Given the description of an element on the screen output the (x, y) to click on. 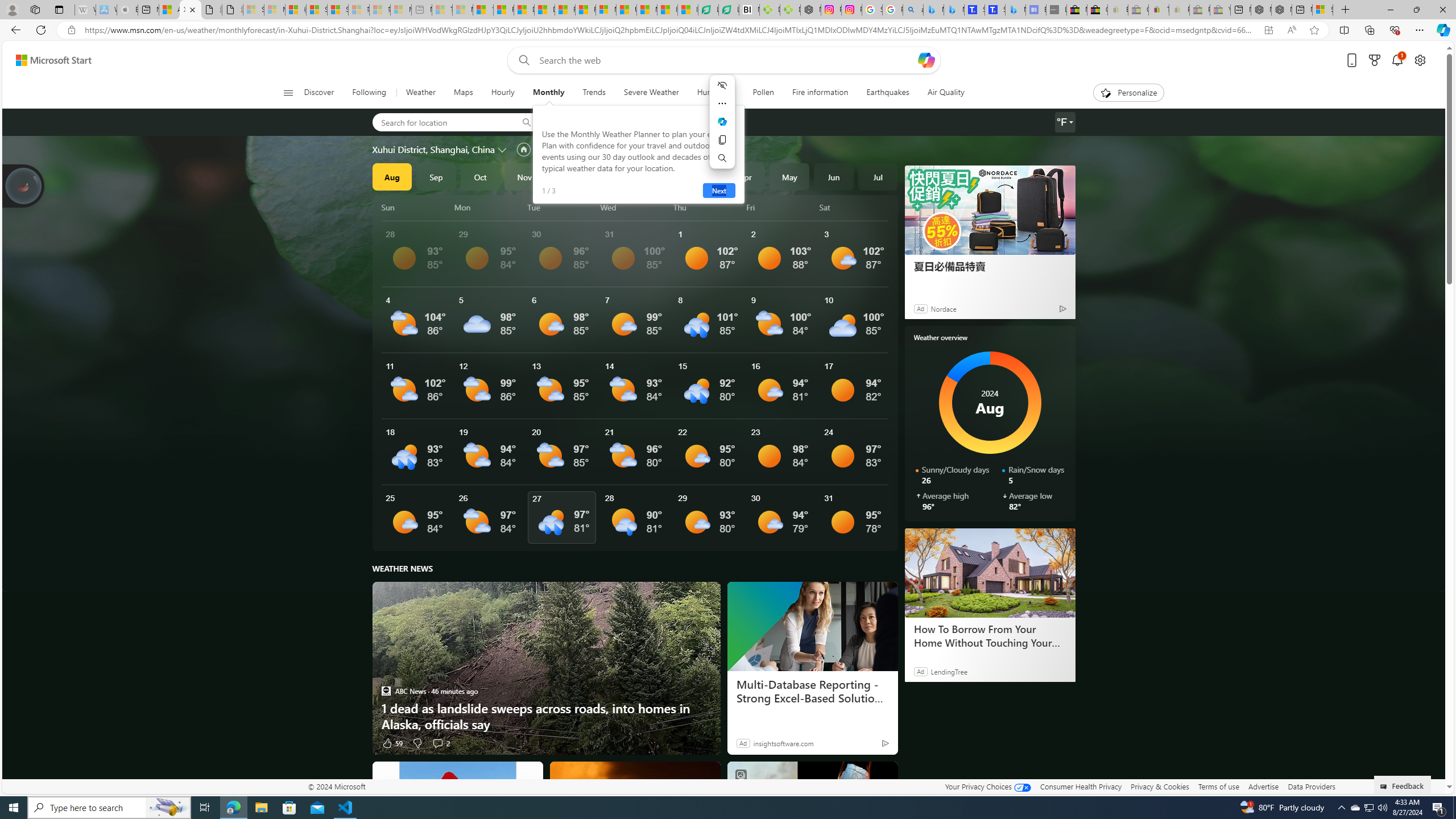
Xuhui District, Shanghai, China (433, 149)
Earthquakes (888, 92)
AutomationID: donut-chart-monthly (990, 402)
View comments 2 Comment (437, 743)
Copy (722, 140)
Weather (420, 92)
Hide menu (722, 85)
alabama high school quarterback dies - Search (913, 9)
Threats and offensive language policy | eBay (1158, 9)
Mar (700, 176)
Set as primary location (522, 149)
